Given the description of an element on the screen output the (x, y) to click on. 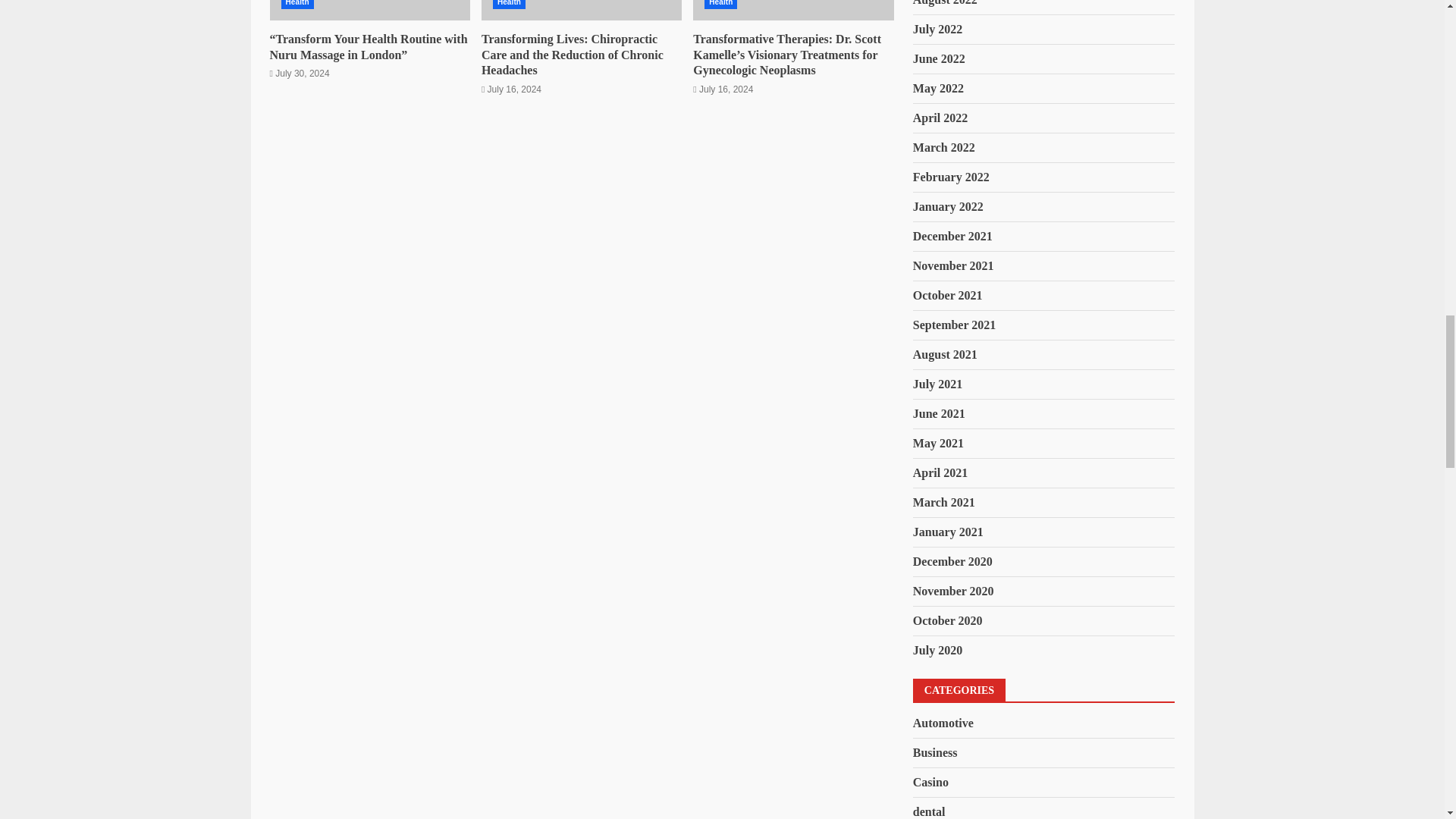
Health (720, 4)
Health (297, 4)
Health (509, 4)
